Given the description of an element on the screen output the (x, y) to click on. 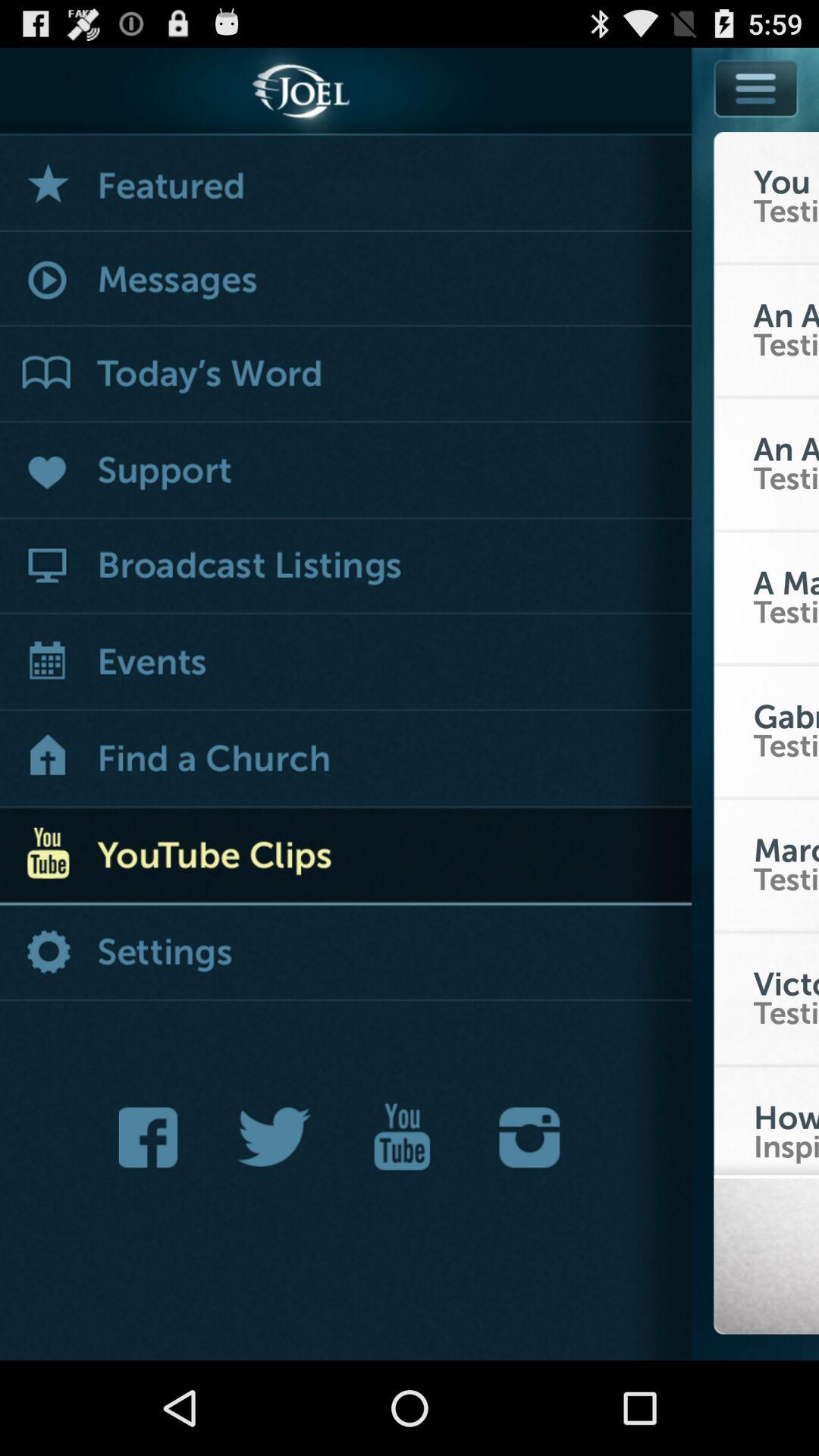
menu option (755, 88)
